Given the description of an element on the screen output the (x, y) to click on. 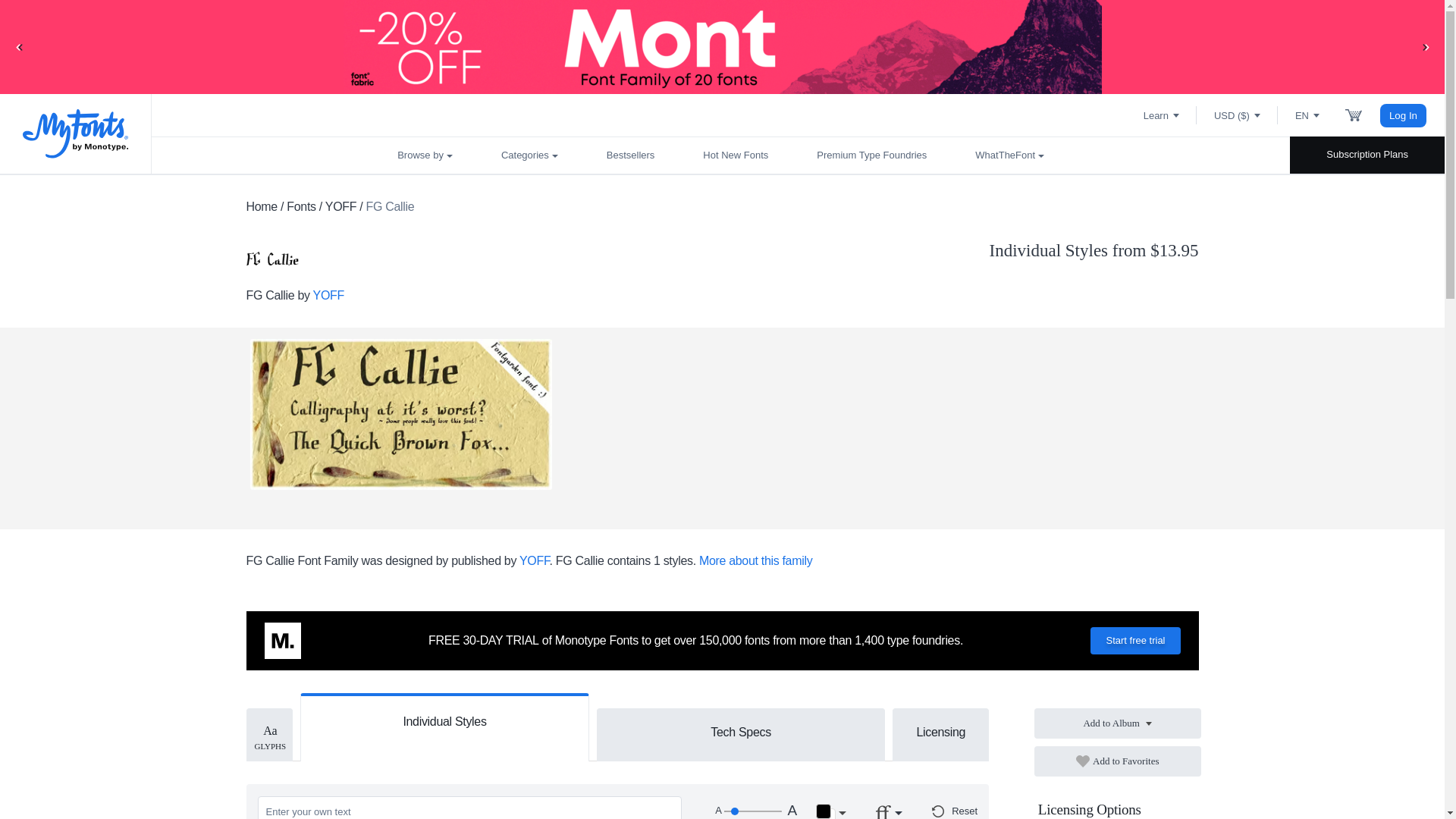
Tech Specs (740, 731)
Log In (1403, 114)
Individual Styles (444, 719)
MyFonts (75, 133)
Skip to content (72, 27)
Licensing (940, 731)
